Given the description of an element on the screen output the (x, y) to click on. 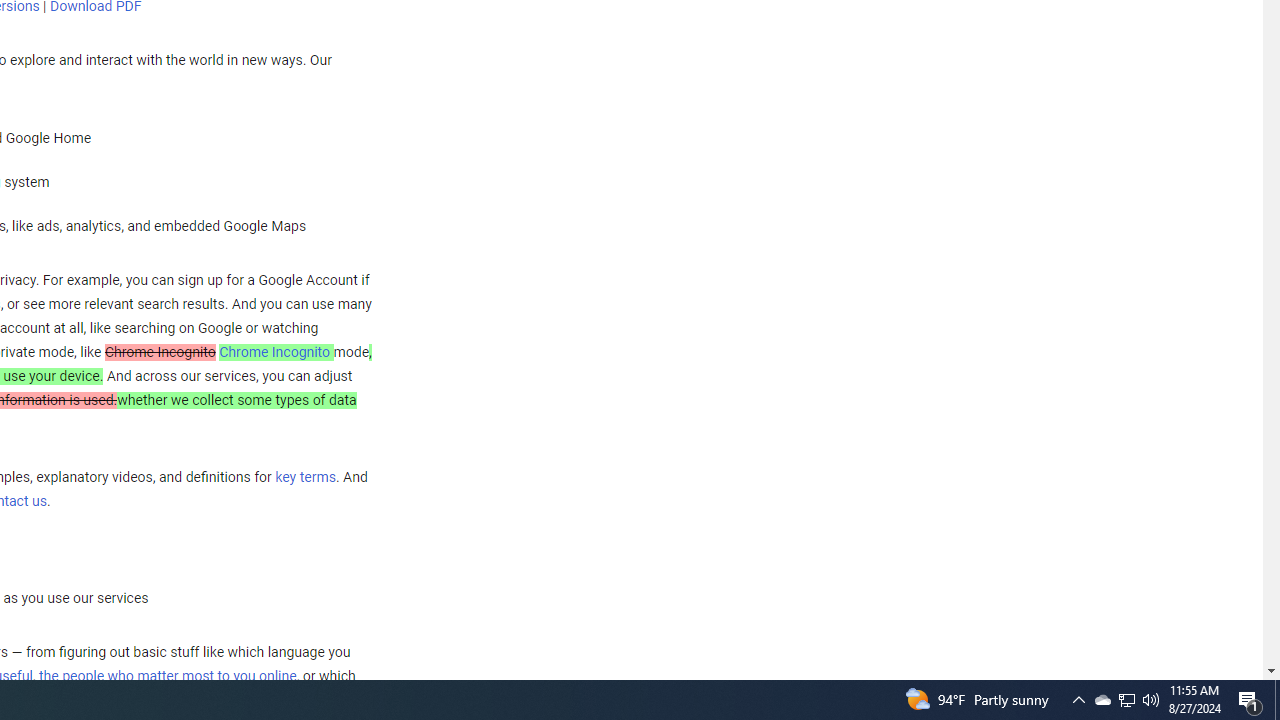
key terms (305, 477)
the people who matter most to you online (167, 675)
Chrome Incognito (274, 351)
